Given the description of an element on the screen output the (x, y) to click on. 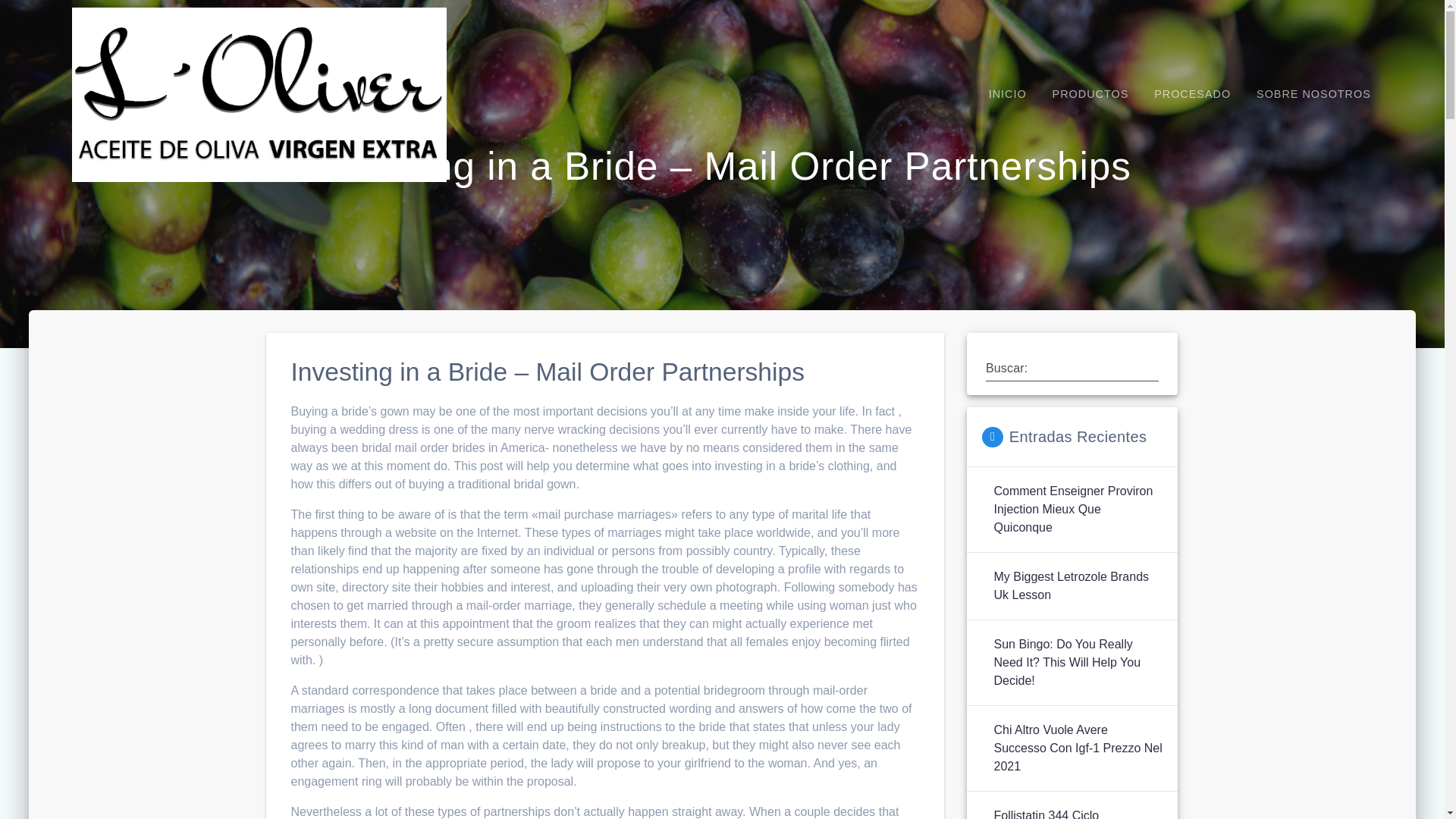
My Biggest Letrozole Brands Uk Lesson (1076, 586)
Comment Enseigner Proviron Injection Mieux Que Quiconque (1076, 509)
Chi Altro Vuole Avere Successo Con Igf-1 Prezzo Nel 2021 (1076, 748)
PRODUCTOS (1090, 94)
SOBRE NOSOTROS (1313, 94)
Sun Bingo: Do You Really Need It? This Will Help You Decide! (1076, 662)
PROCESADO (1192, 94)
INICIO (1007, 94)
